Given the description of an element on the screen output the (x, y) to click on. 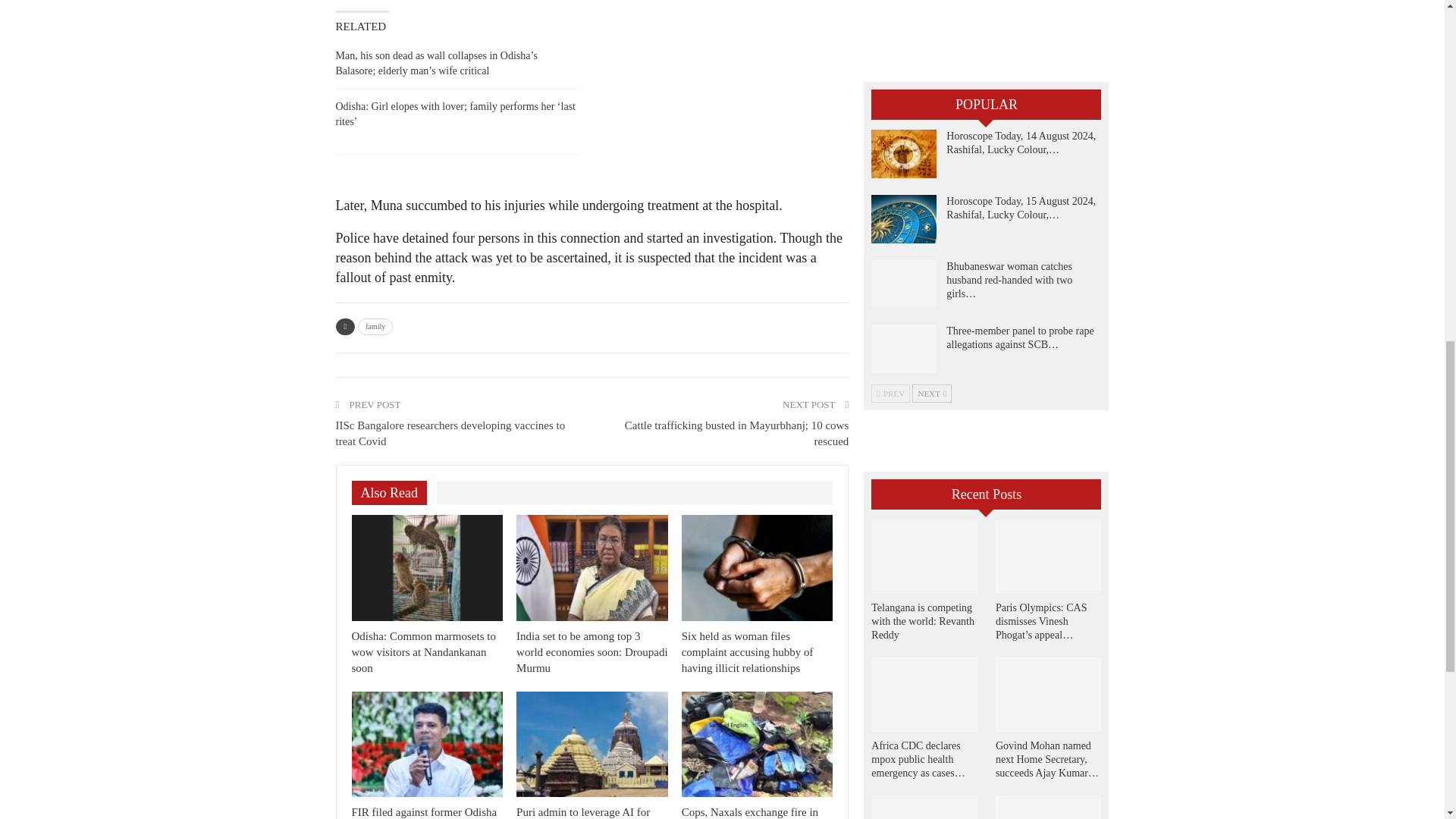
Odisha: Common marmosets to wow visitors at Nandankanan soon (427, 567)
Puri admin to leverage AI for crowd management at Srimandir (590, 812)
Odisha: Common marmosets to wow visitors at Nandankanan soon (424, 651)
Puri admin to leverage AI for crowd management at Srimandir (592, 744)
